Given the description of an element on the screen output the (x, y) to click on. 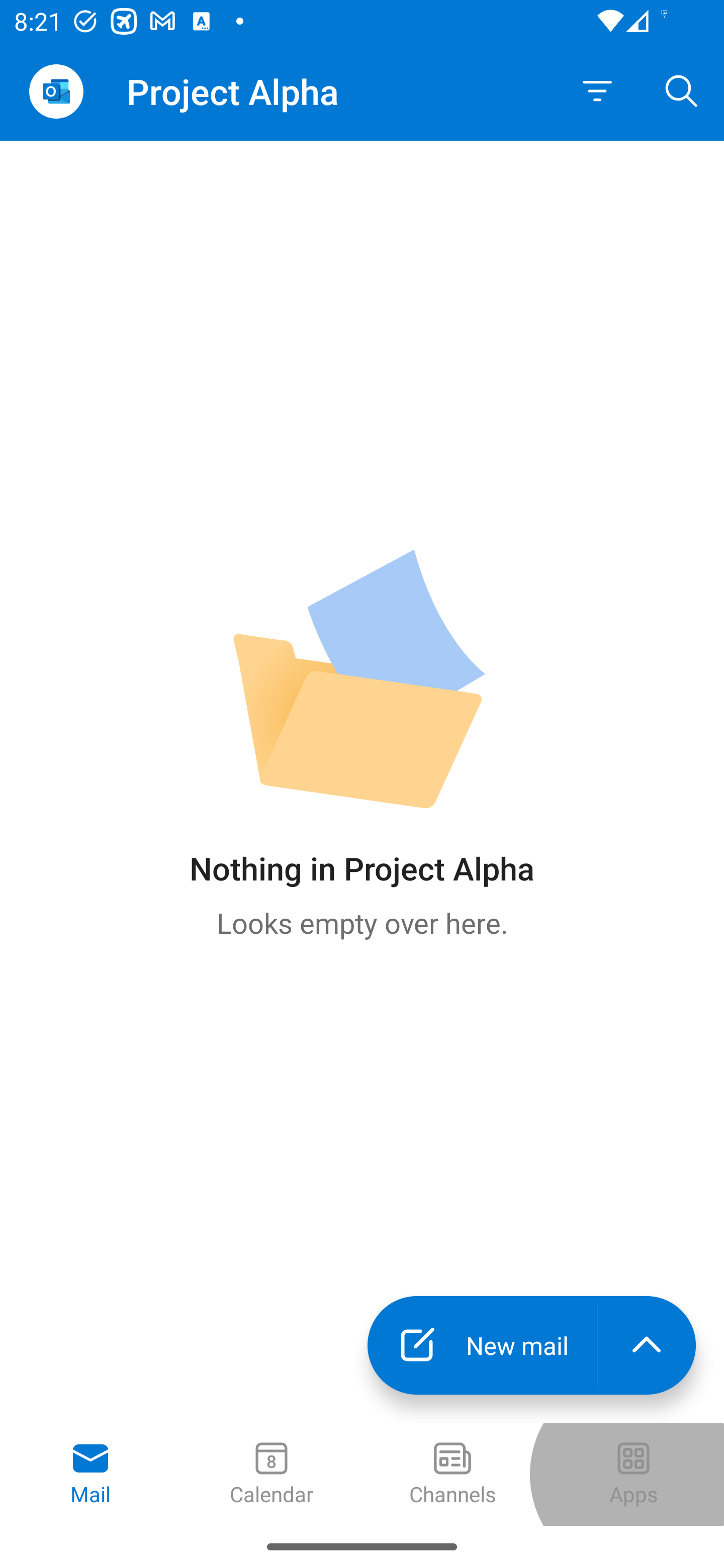
Search, ,  (681, 90)
Open Navigation Drawer (55, 91)
Filter (597, 91)
New mail (481, 1344)
launch the extended action menu (646, 1344)
Calendar (271, 1474)
Channels (452, 1474)
Apps (633, 1474)
